Given the description of an element on the screen output the (x, y) to click on. 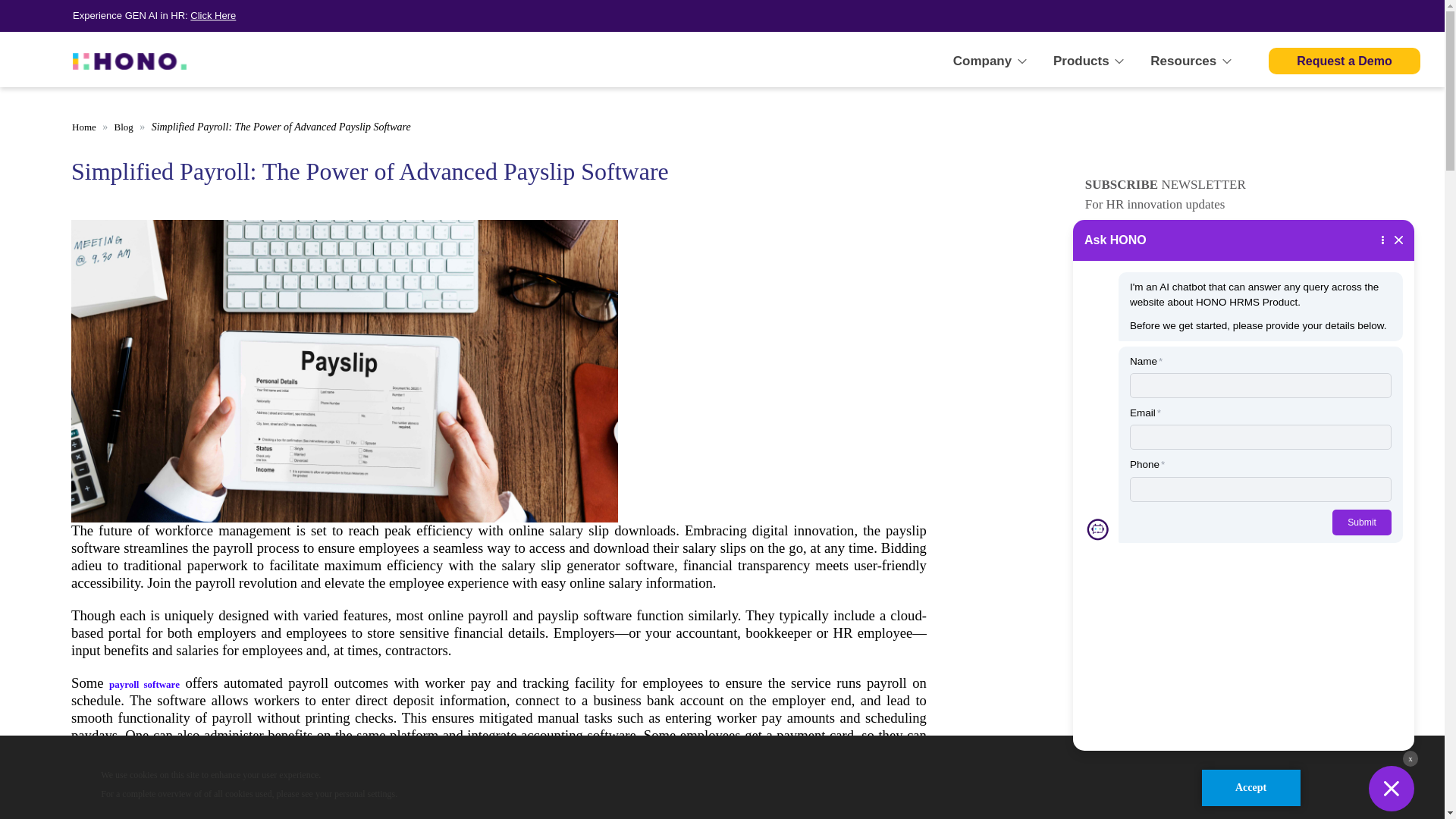
Resources (1192, 61)
Request a Demo (1344, 60)
Click Here (212, 15)
payroll software (571, 754)
Accept (1250, 787)
Home (83, 126)
Blog (124, 126)
payroll software (144, 684)
Products (1089, 61)
Submit (1372, 271)
Company (991, 61)
